Given the description of an element on the screen output the (x, y) to click on. 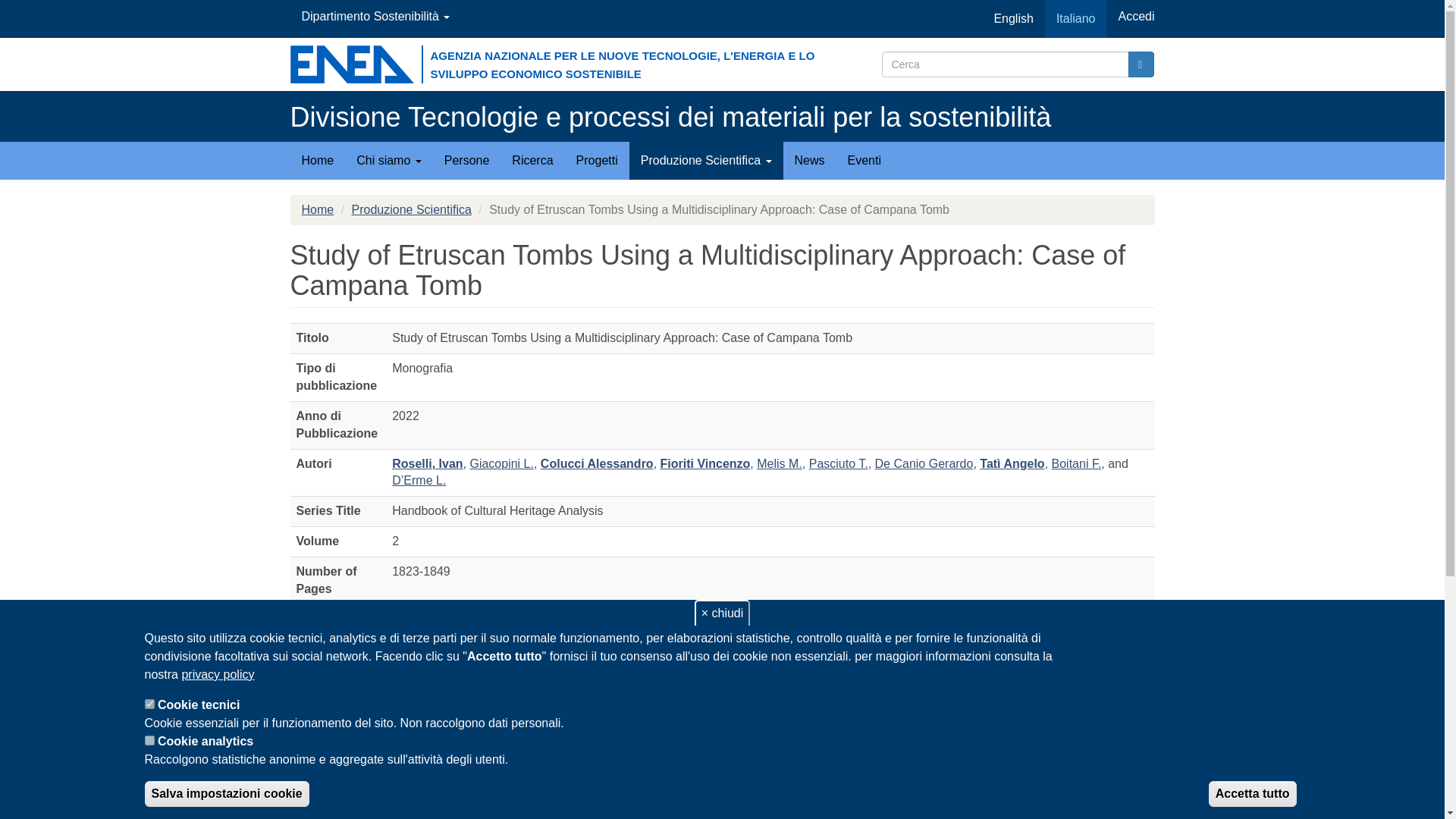
Accedi (1136, 16)
Switch language (1012, 18)
Melis M. (779, 463)
Chi siamo (388, 160)
Home (670, 117)
Pasciuto T. (838, 463)
Progetti (596, 160)
Eventi (863, 160)
Cerca (1141, 63)
Ricerca (532, 160)
Home (317, 160)
English (1012, 18)
Giacopini L. (501, 463)
Fioriti Vincenzo (706, 463)
